Given the description of an element on the screen output the (x, y) to click on. 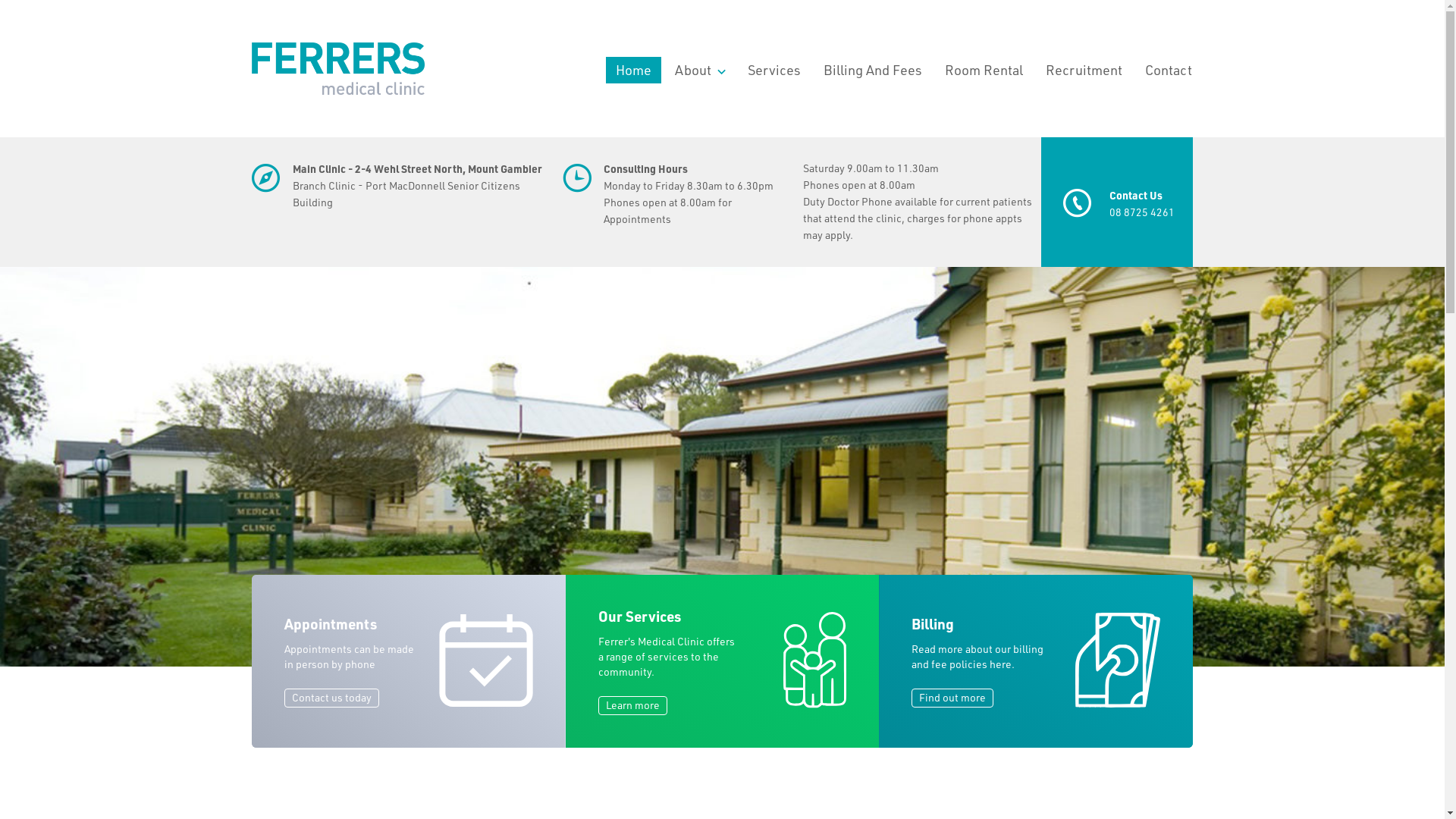
Billing And Fees Element type: text (872, 69)
Contact Us
08 8725 4261 Element type: text (1116, 201)
Home Element type: text (633, 69)
Contact Element type: text (1168, 69)
Room Rental Element type: text (983, 69)
About Element type: text (699, 69)
Recruitment Element type: text (1083, 69)
Services Element type: text (773, 69)
